Given the description of an element on the screen output the (x, y) to click on. 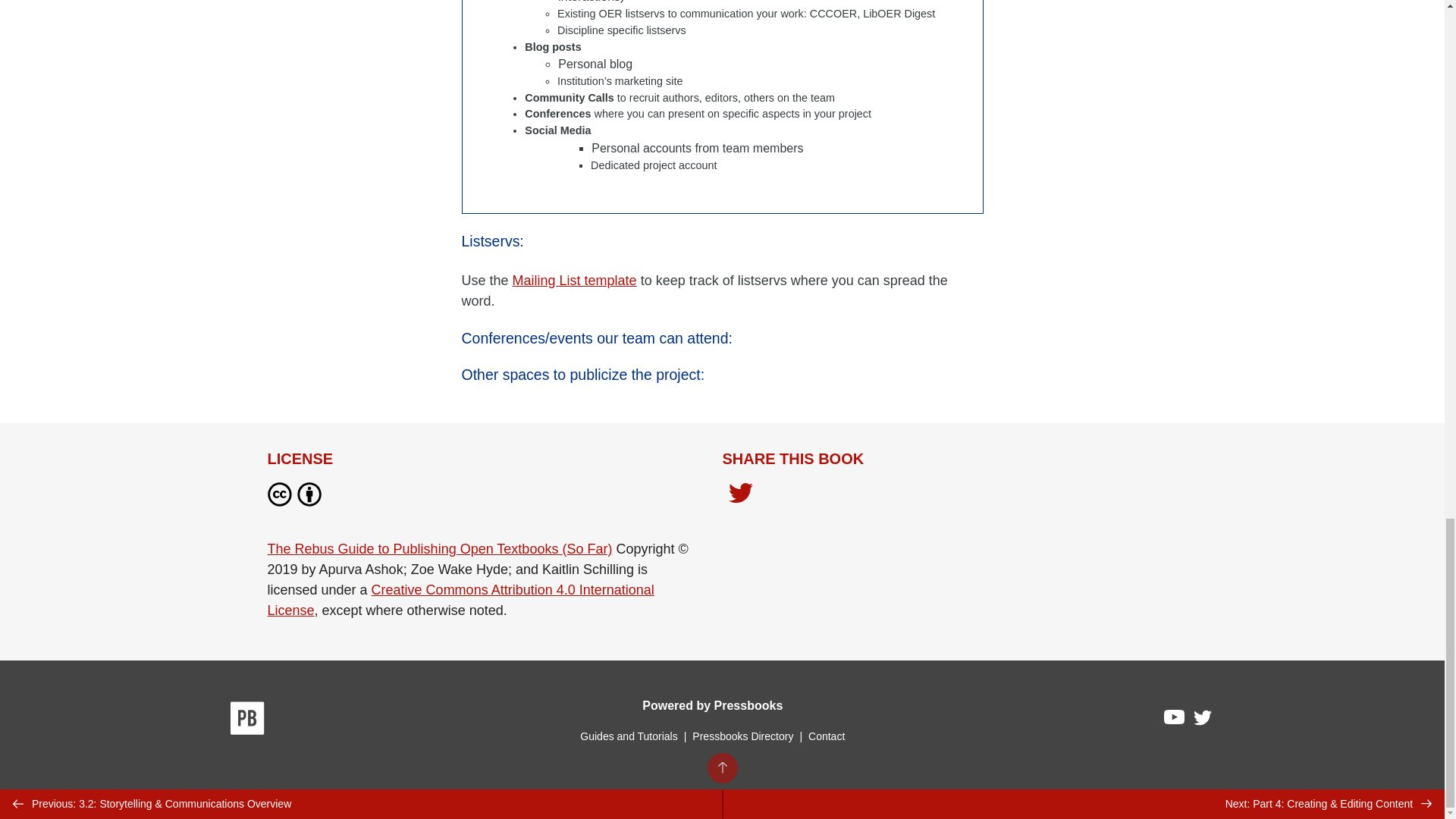
Guides and Tutorials (627, 736)
Creative Commons Attribution 4.0 International License (459, 600)
Pressbooks on YouTube (1174, 721)
Contact (826, 736)
Share on Twitter (740, 496)
Share on Twitter (740, 494)
Pressbooks Directory (742, 736)
Mailing List template (574, 280)
Powered by Pressbooks (712, 705)
